Given the description of an element on the screen output the (x, y) to click on. 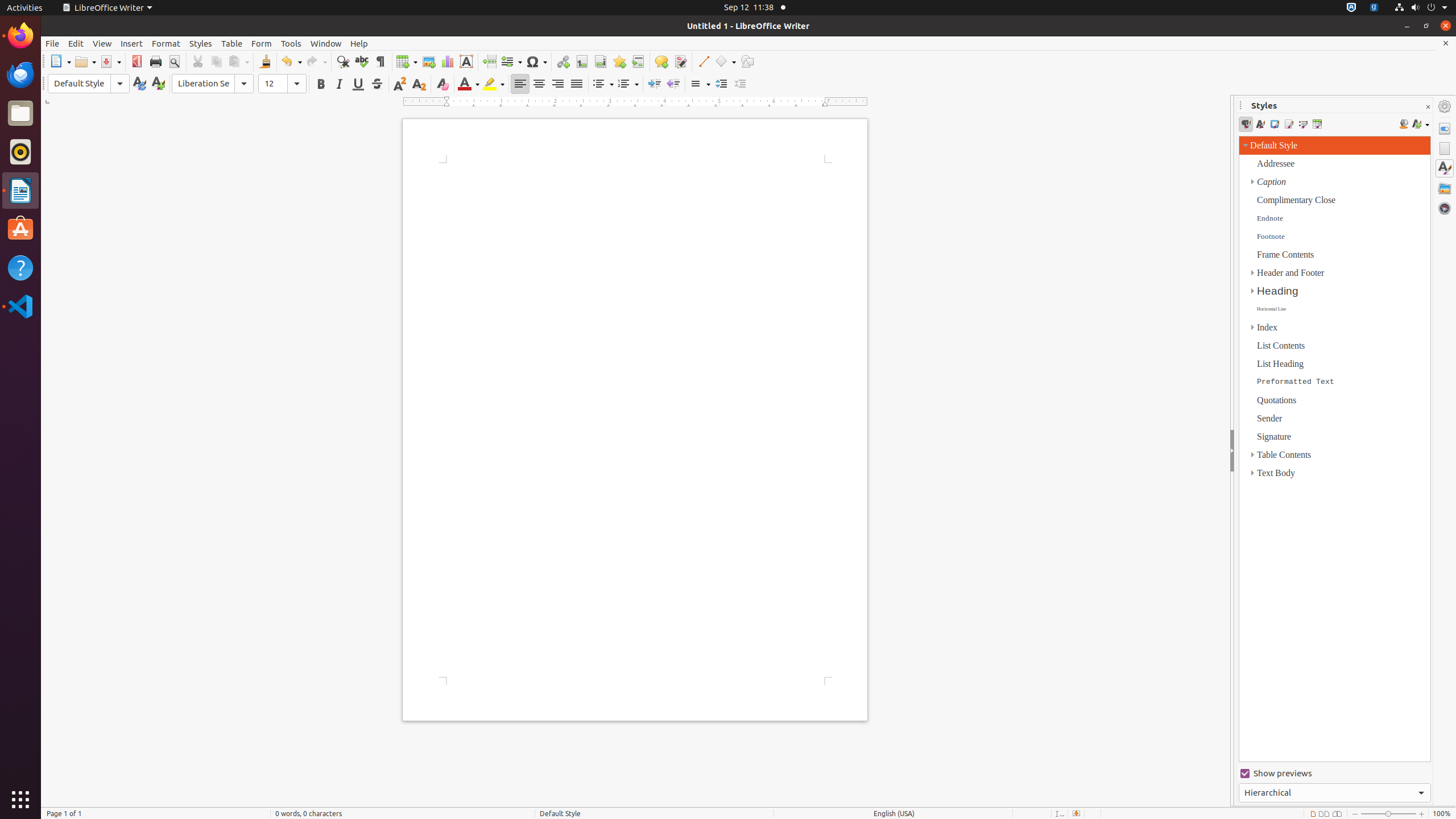
Help Element type: push-button (20, 267)
Visual Studio Code Element type: push-button (20, 306)
Styles Element type: radio-button (1444, 168)
LibreOffice Writer Element type: menu (106, 7)
Fill Format Mode Element type: push-button (1403, 123)
